Given the description of an element on the screen output the (x, y) to click on. 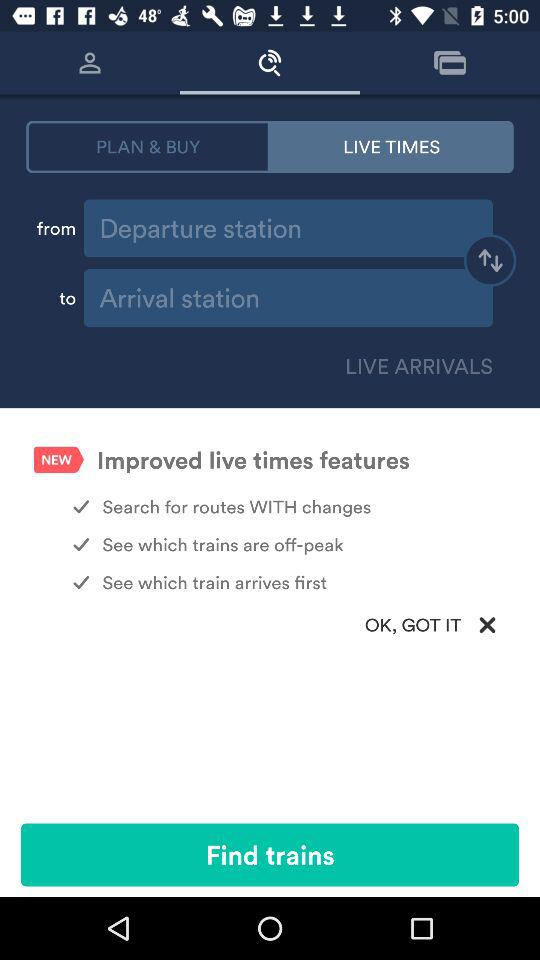
press live arrivals icon (415, 366)
